Given the description of an element on the screen output the (x, y) to click on. 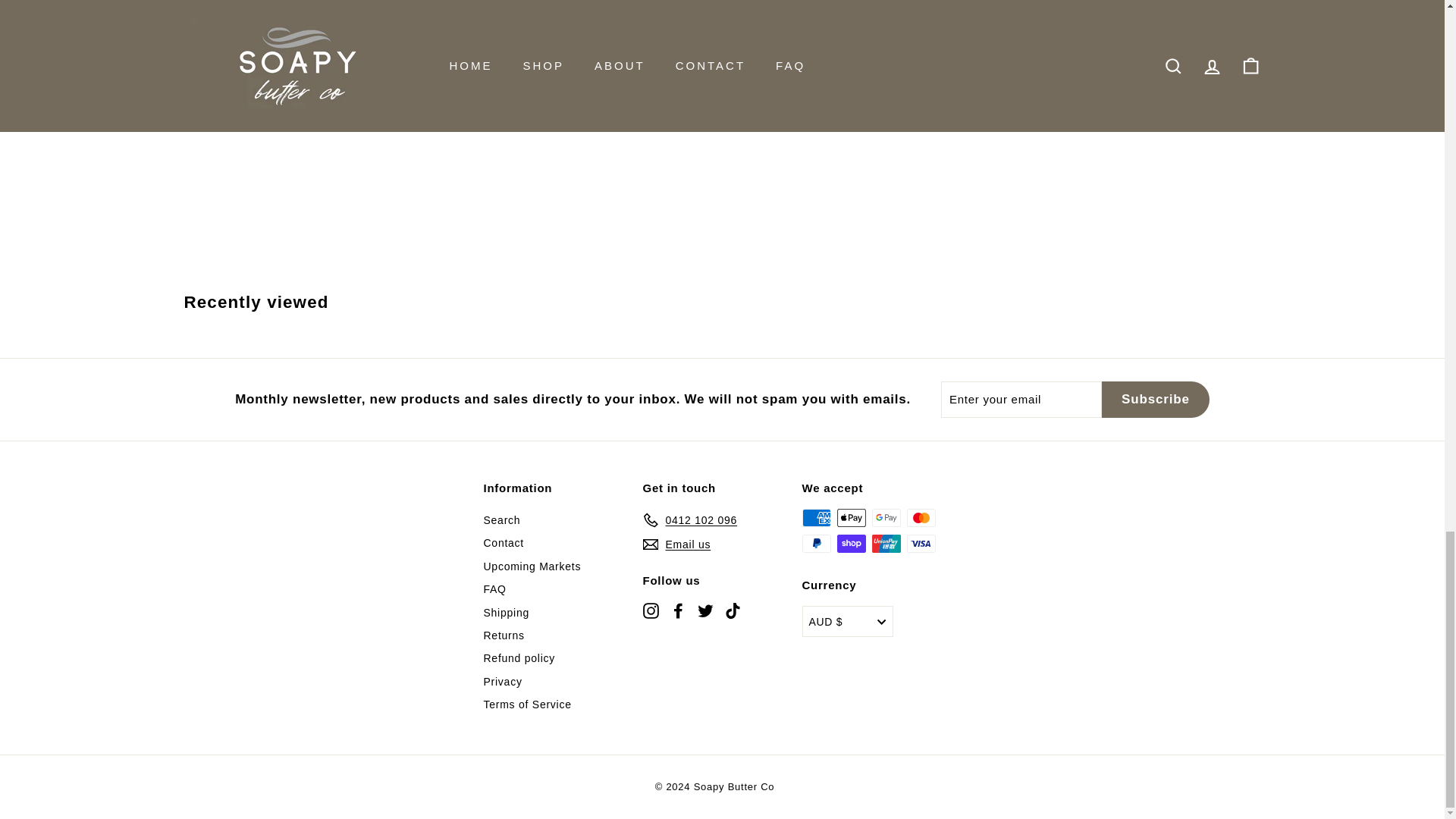
Soapy Butter Co on Twitter (705, 610)
Soapy Butter Co on TikTok (733, 610)
Soapy Butter Co on Instagram (651, 610)
Soapy Butter Co on Facebook (677, 610)
